Given the description of an element on the screen output the (x, y) to click on. 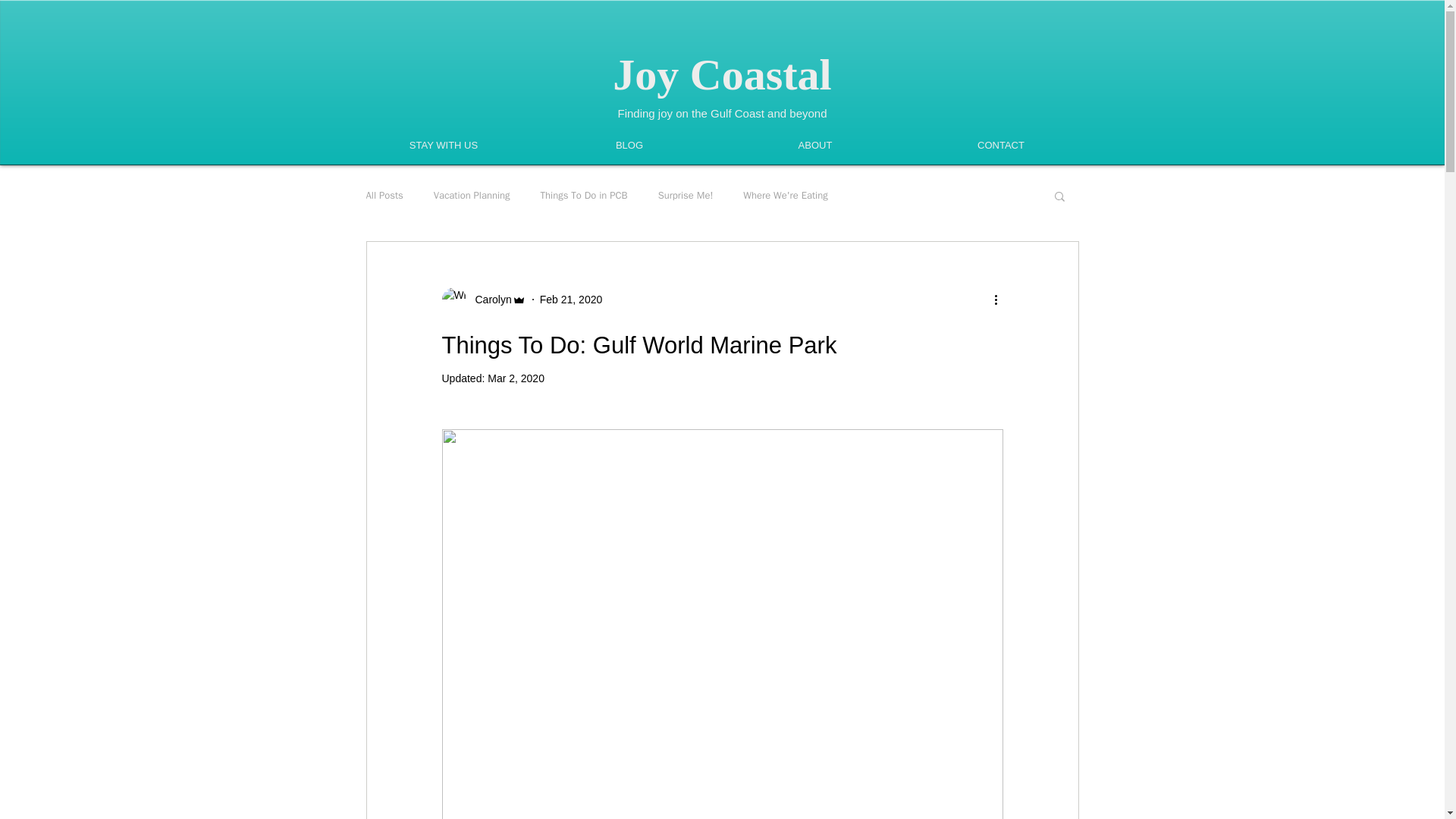
Surprise Me! (685, 195)
STAY WITH US (442, 145)
BLOG (629, 145)
Vacation Planning (472, 195)
Joy Coastal (721, 74)
CONTACT (1001, 145)
Carolyn (488, 299)
Things To Do in PCB (583, 195)
Mar 2, 2020 (515, 378)
Feb 21, 2020 (571, 299)
ABOUT (814, 145)
All Posts (384, 195)
Where We're Eating (784, 195)
